Given the description of an element on the screen output the (x, y) to click on. 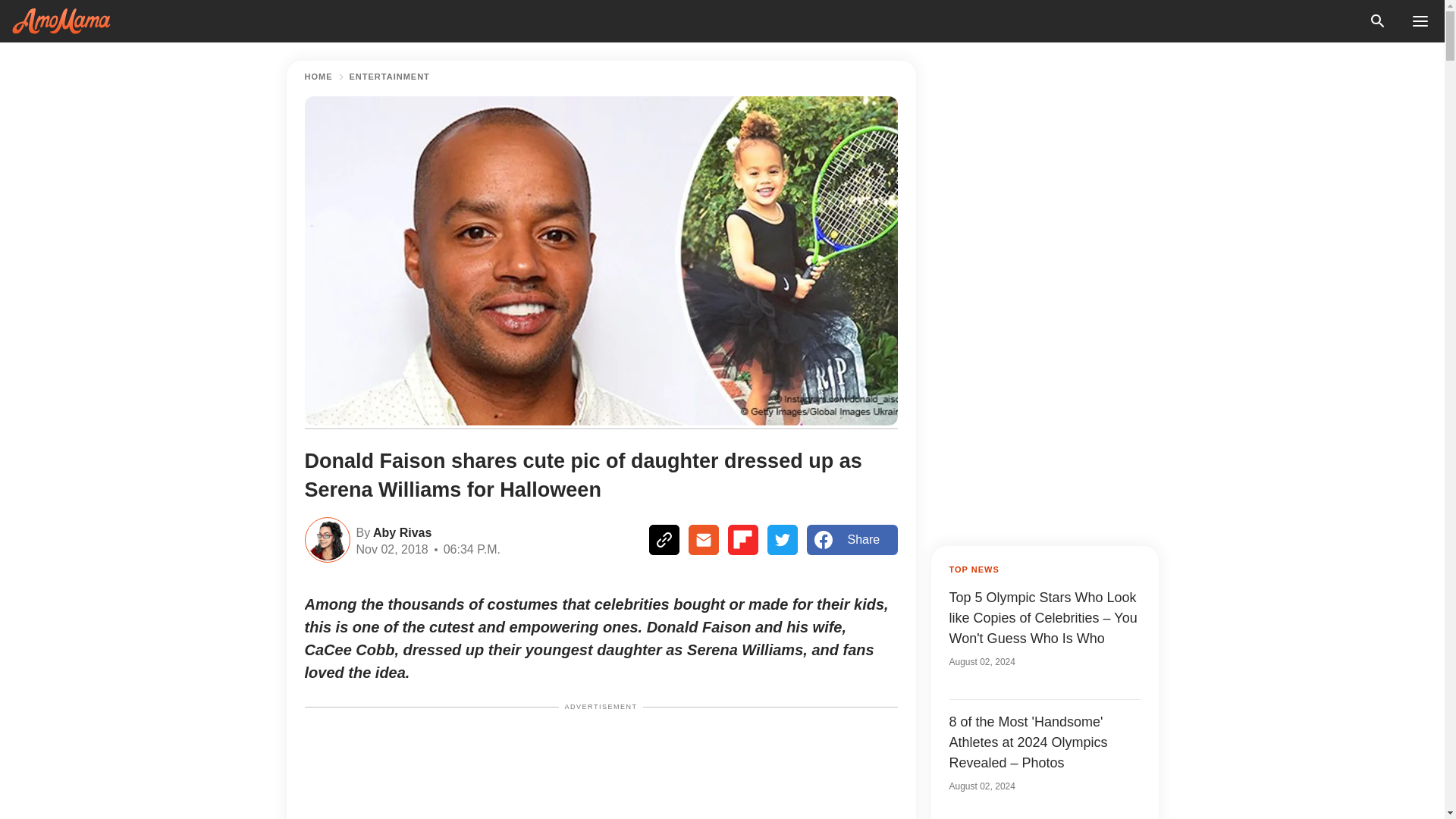
HOME (318, 76)
Aby Rivas (399, 531)
ENTERTAINMENT (389, 76)
